Given the description of an element on the screen output the (x, y) to click on. 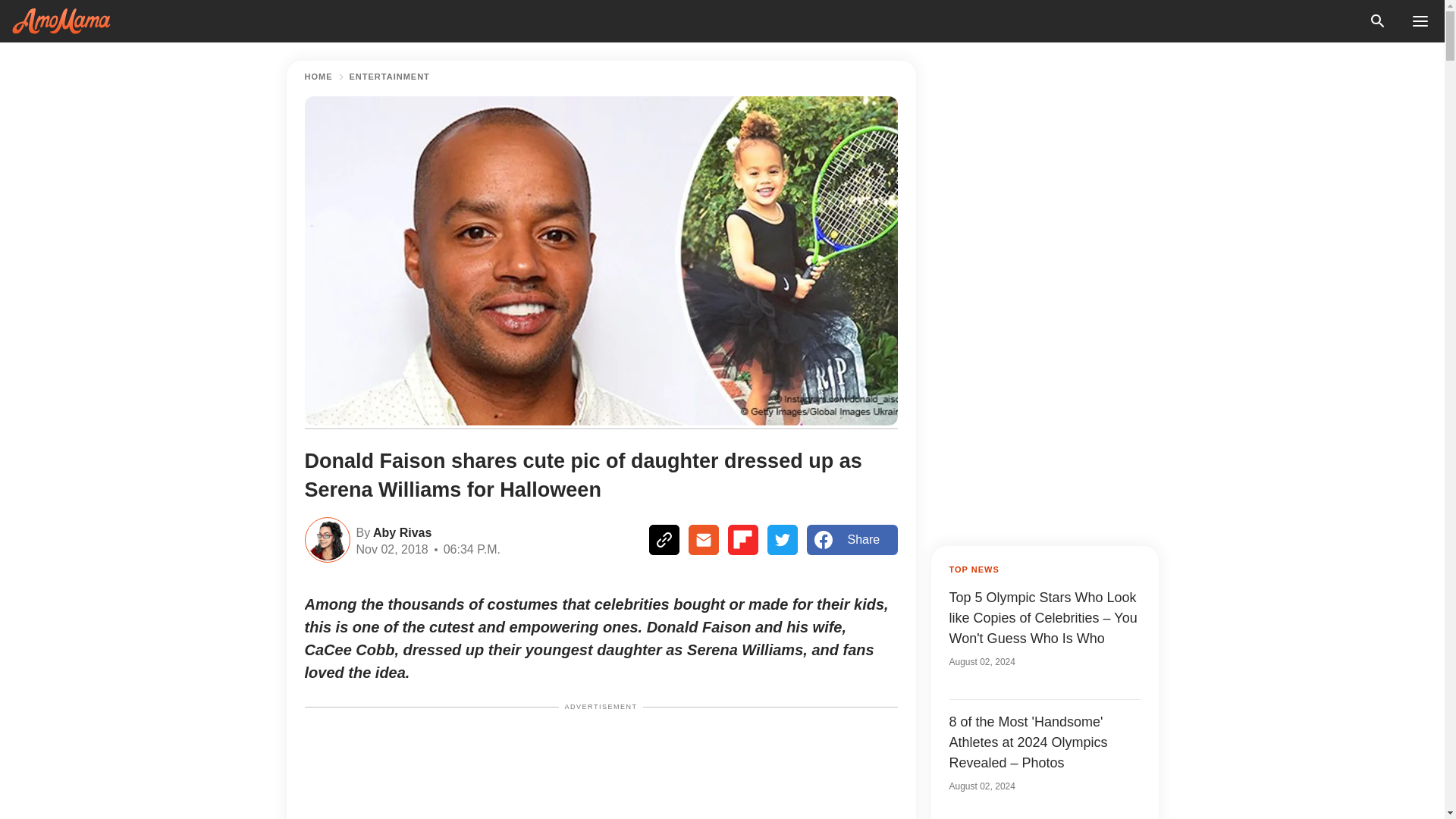
HOME (318, 76)
Aby Rivas (399, 531)
ENTERTAINMENT (389, 76)
